Given the description of an element on the screen output the (x, y) to click on. 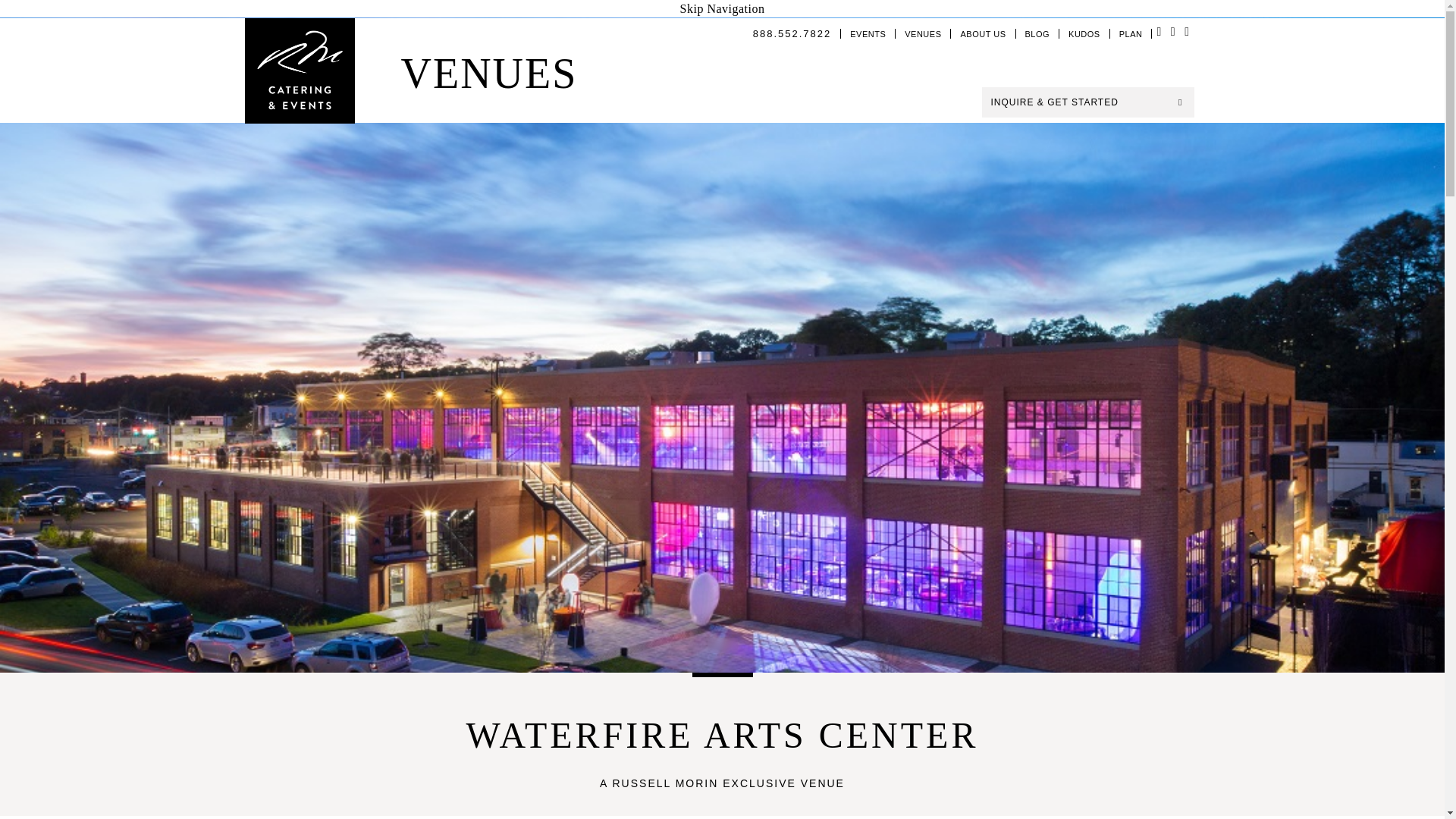
888.552.7822 (792, 33)
KUDOS (1084, 33)
Skip Navigation (722, 8)
EVENTS (868, 33)
PLAN (1130, 33)
VENUES (488, 73)
VENUES (922, 33)
ABOUT US (982, 33)
BLOG (1037, 33)
